Given the description of an element on the screen output the (x, y) to click on. 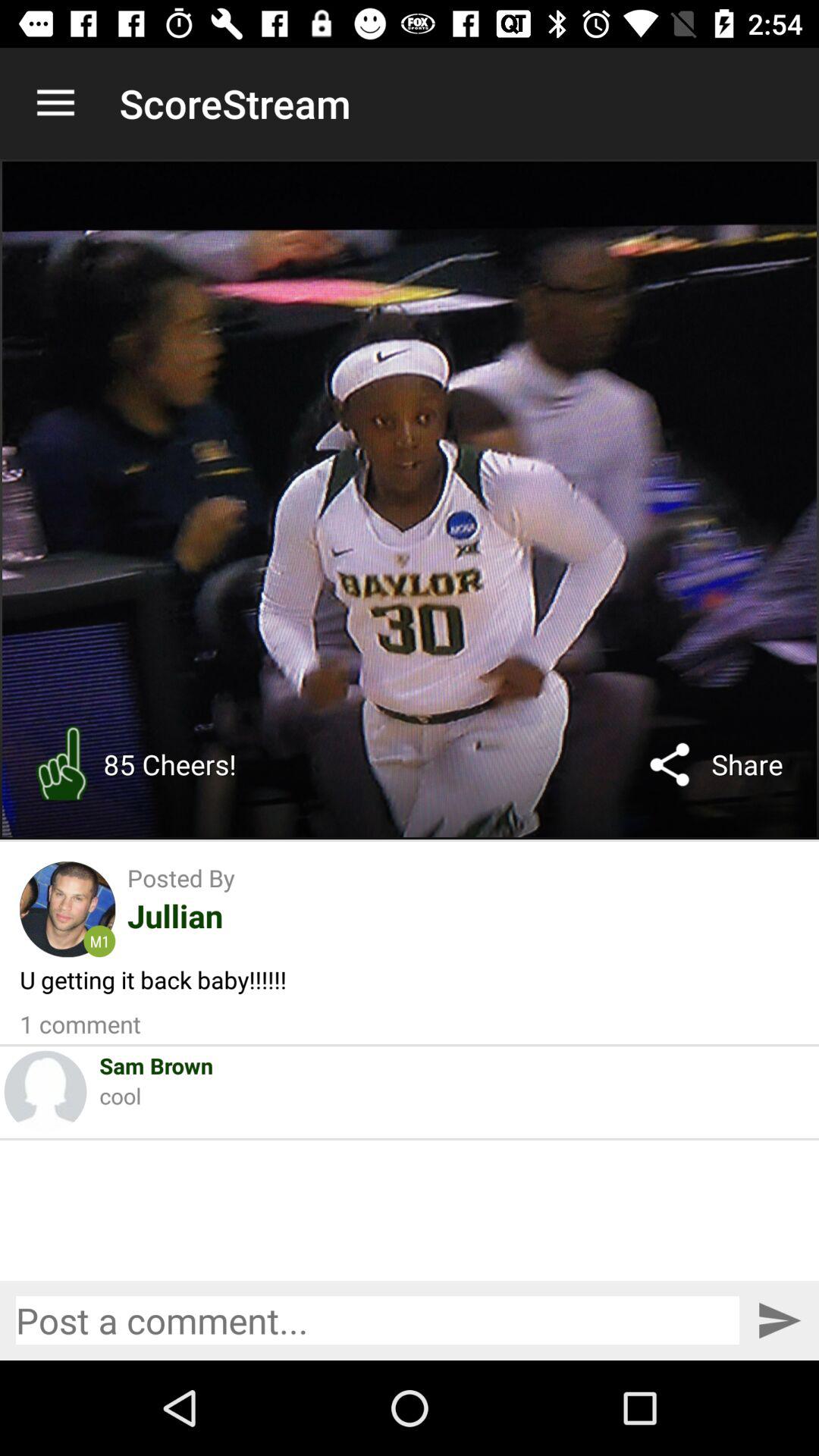
launch the icon below sam brown (120, 1095)
